Given the description of an element on the screen output the (x, y) to click on. 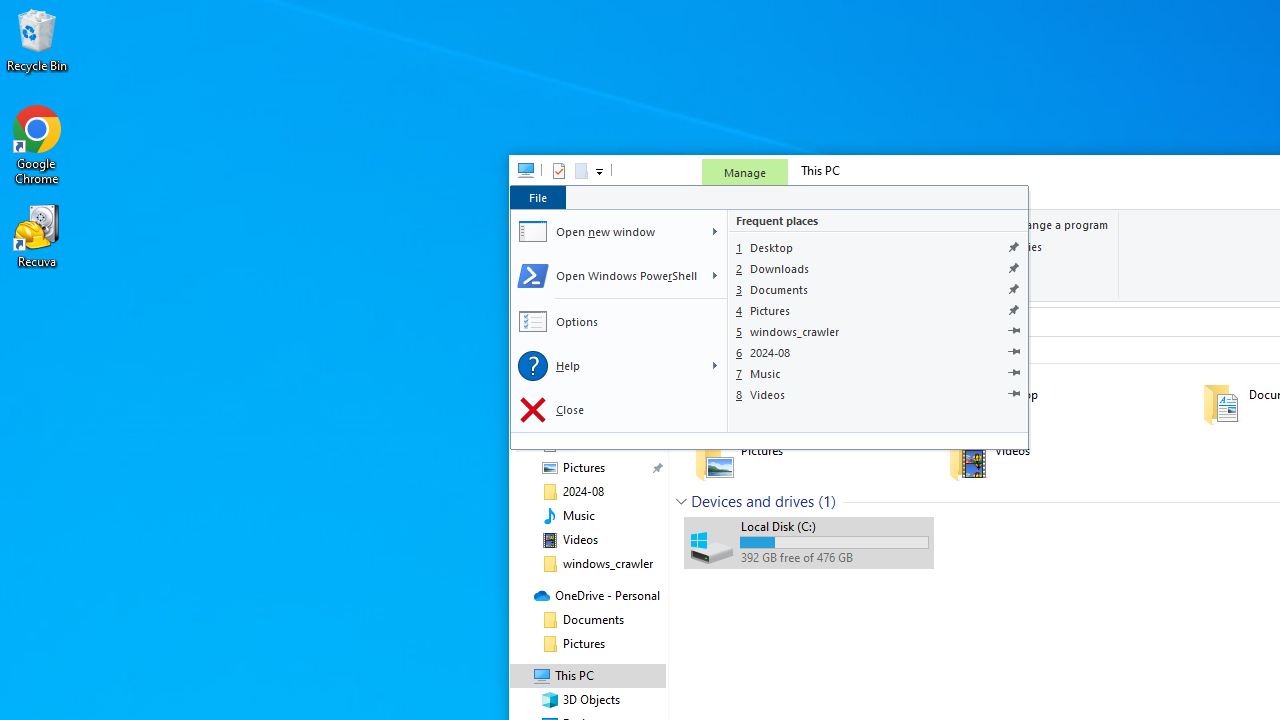
2024-08 (878, 352)
Class: NetUIHWND (769, 317)
Open Windows PowerShell (606, 276)
